Given the description of an element on the screen output the (x, y) to click on. 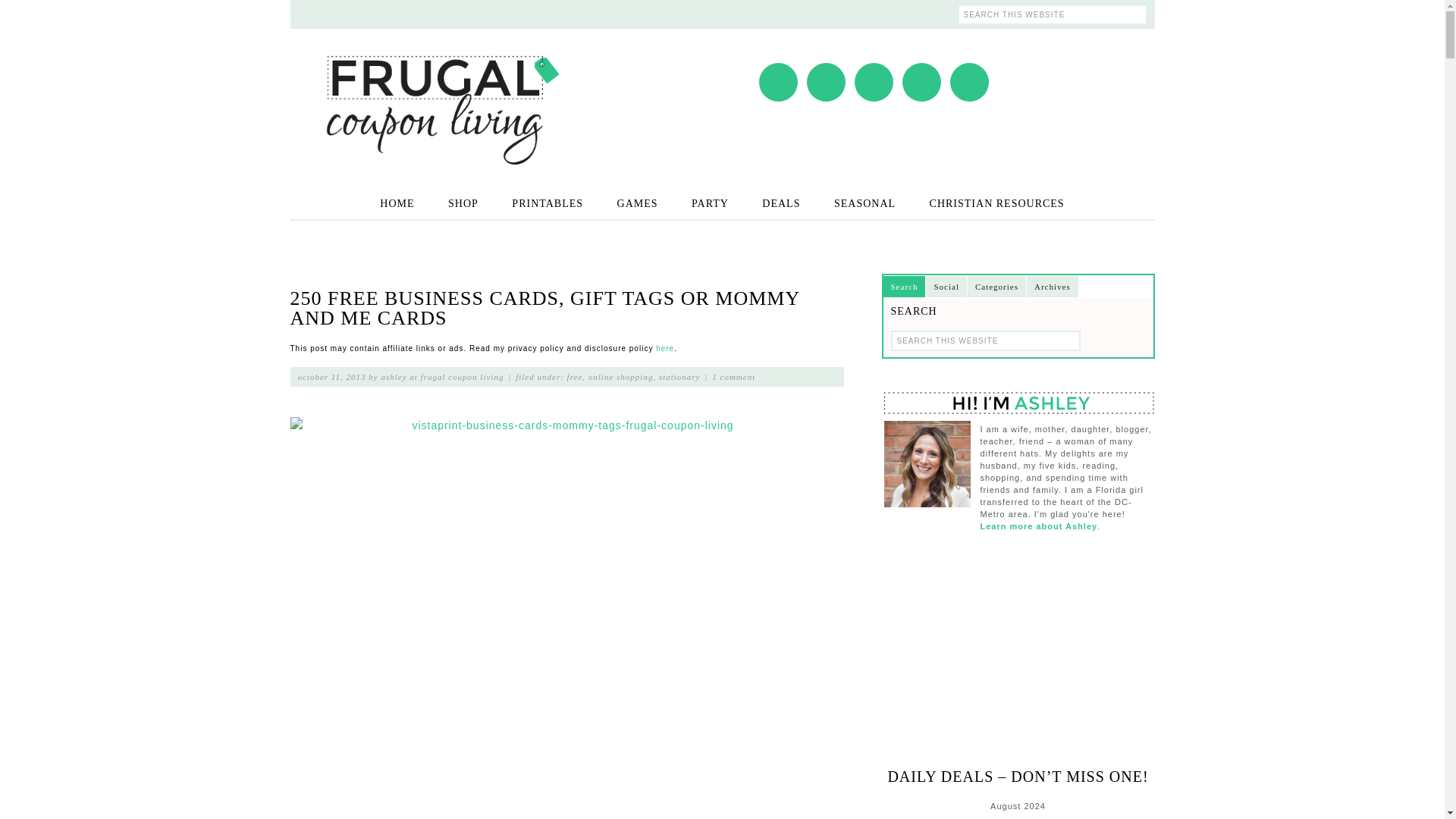
SHOP (462, 203)
GAMES (637, 203)
PARTY (710, 203)
HOME (397, 203)
PRINTABLES (547, 203)
DEALS (780, 203)
